Given the description of an element on the screen output the (x, y) to click on. 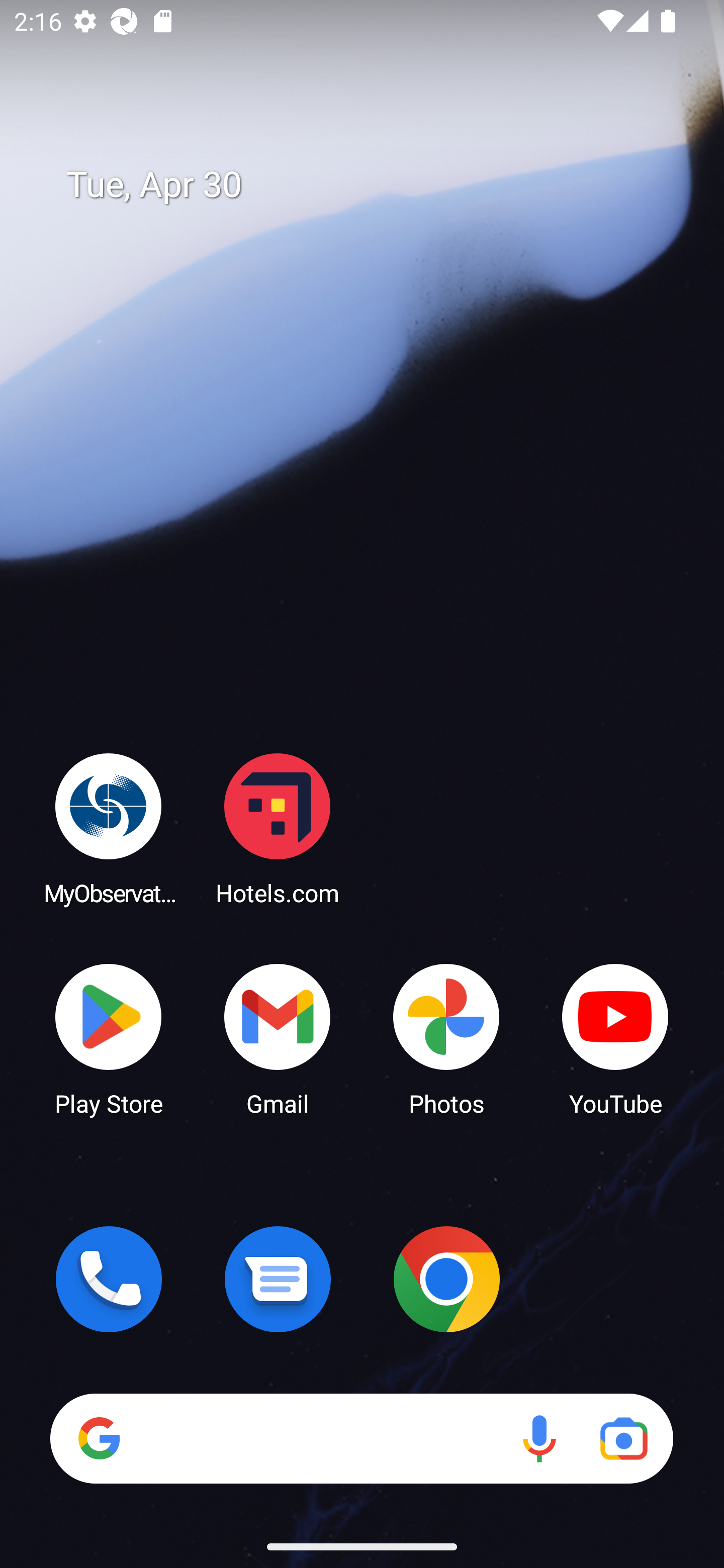
Tue, Apr 30 (375, 184)
MyObservatory (108, 828)
Hotels.com (277, 828)
Play Store (108, 1038)
Gmail (277, 1038)
Photos (445, 1038)
YouTube (615, 1038)
Phone (108, 1279)
Messages (277, 1279)
Chrome (446, 1279)
Voice search (539, 1438)
Google Lens (623, 1438)
